Given the description of an element on the screen output the (x, y) to click on. 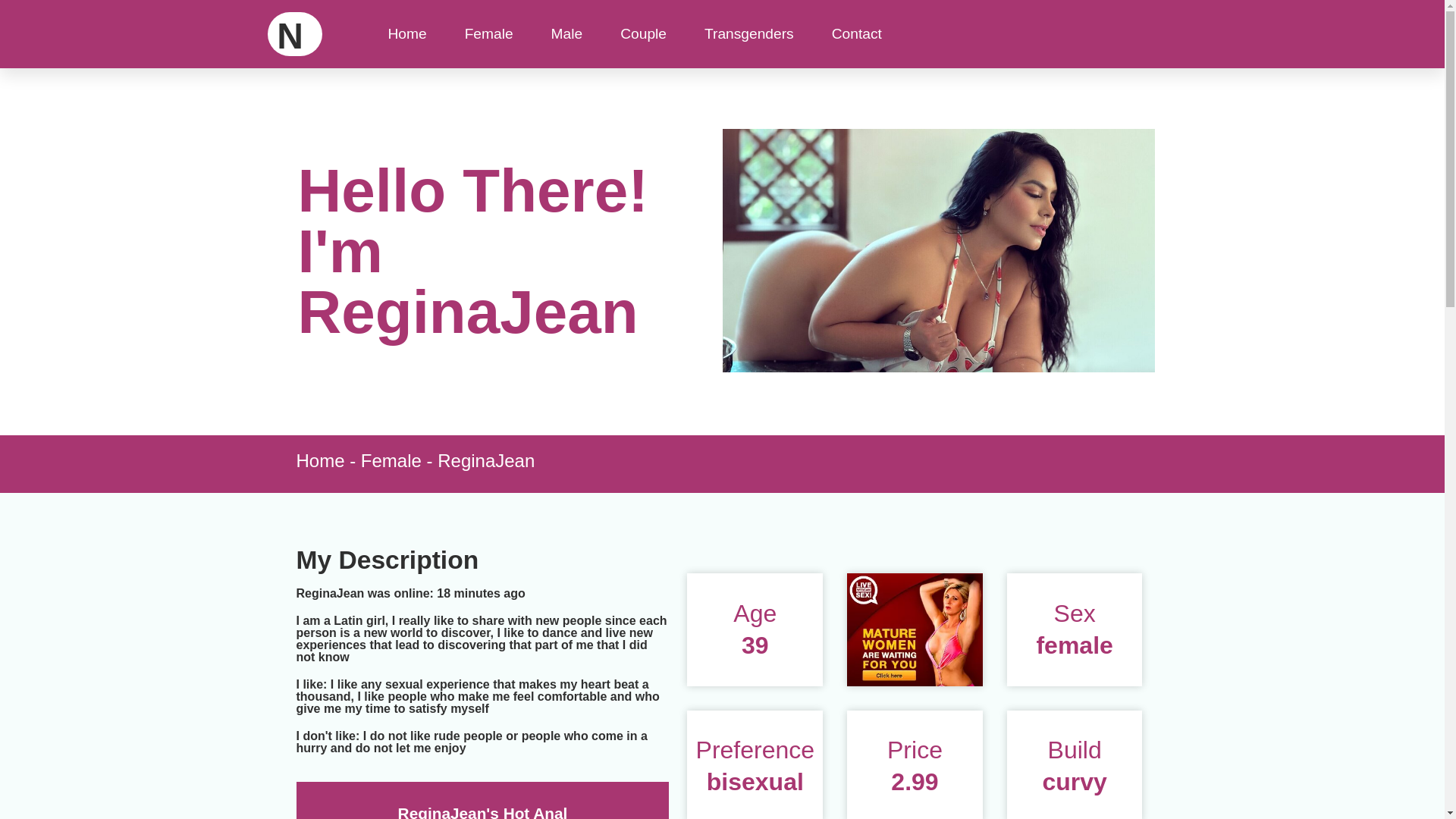
Nextwebtechnologies (295, 36)
Transgenders (748, 33)
Home (319, 460)
Female (391, 460)
ReginaJean's Hot Anal (482, 811)
Transgenders (748, 33)
